Given the description of an element on the screen output the (x, y) to click on. 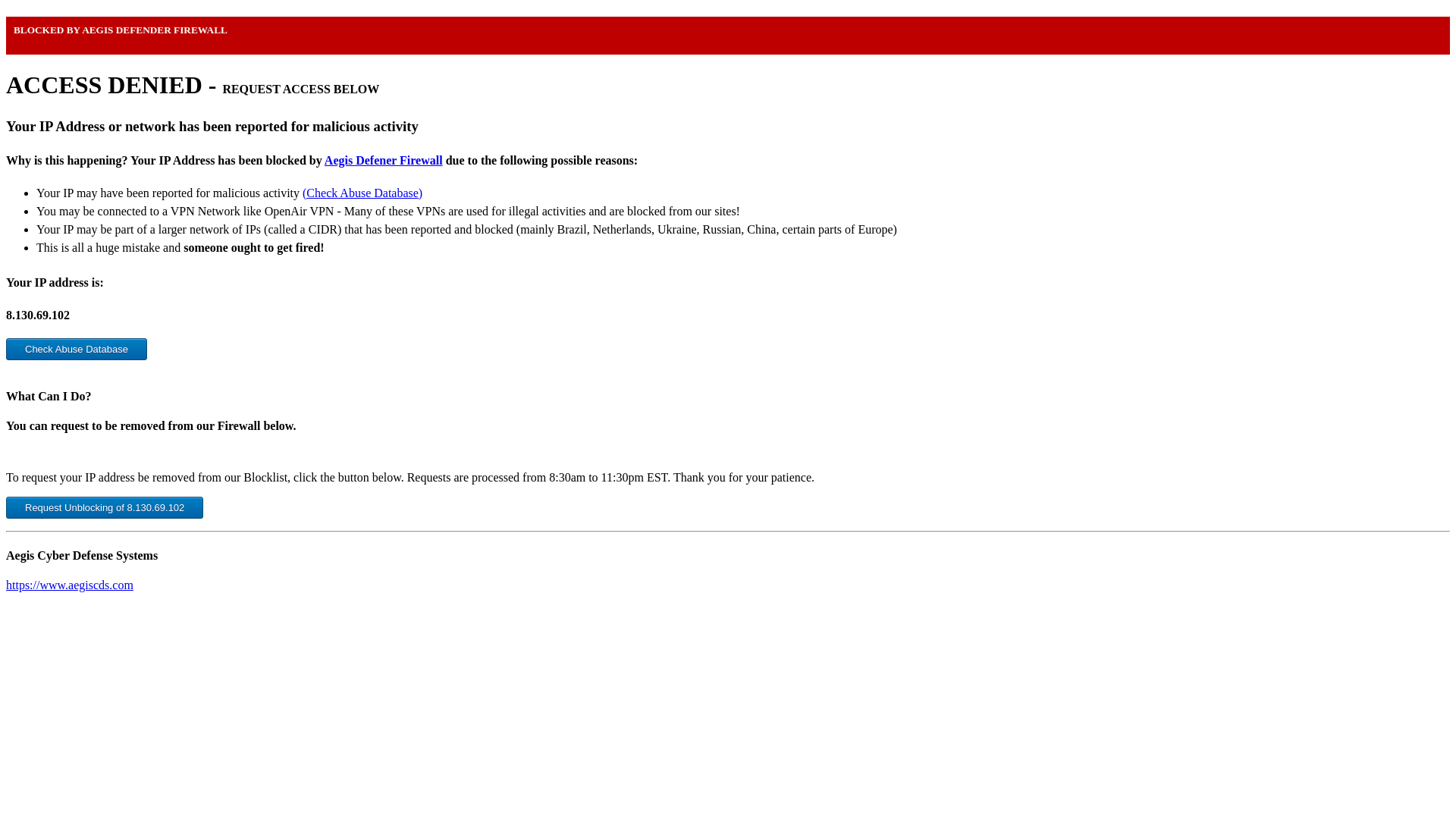
Request Unblocking of 8.130.69.102 (104, 507)
Aegis Defener Firewall (383, 160)
Check Abuse Database (76, 349)
